Given the description of an element on the screen output the (x, y) to click on. 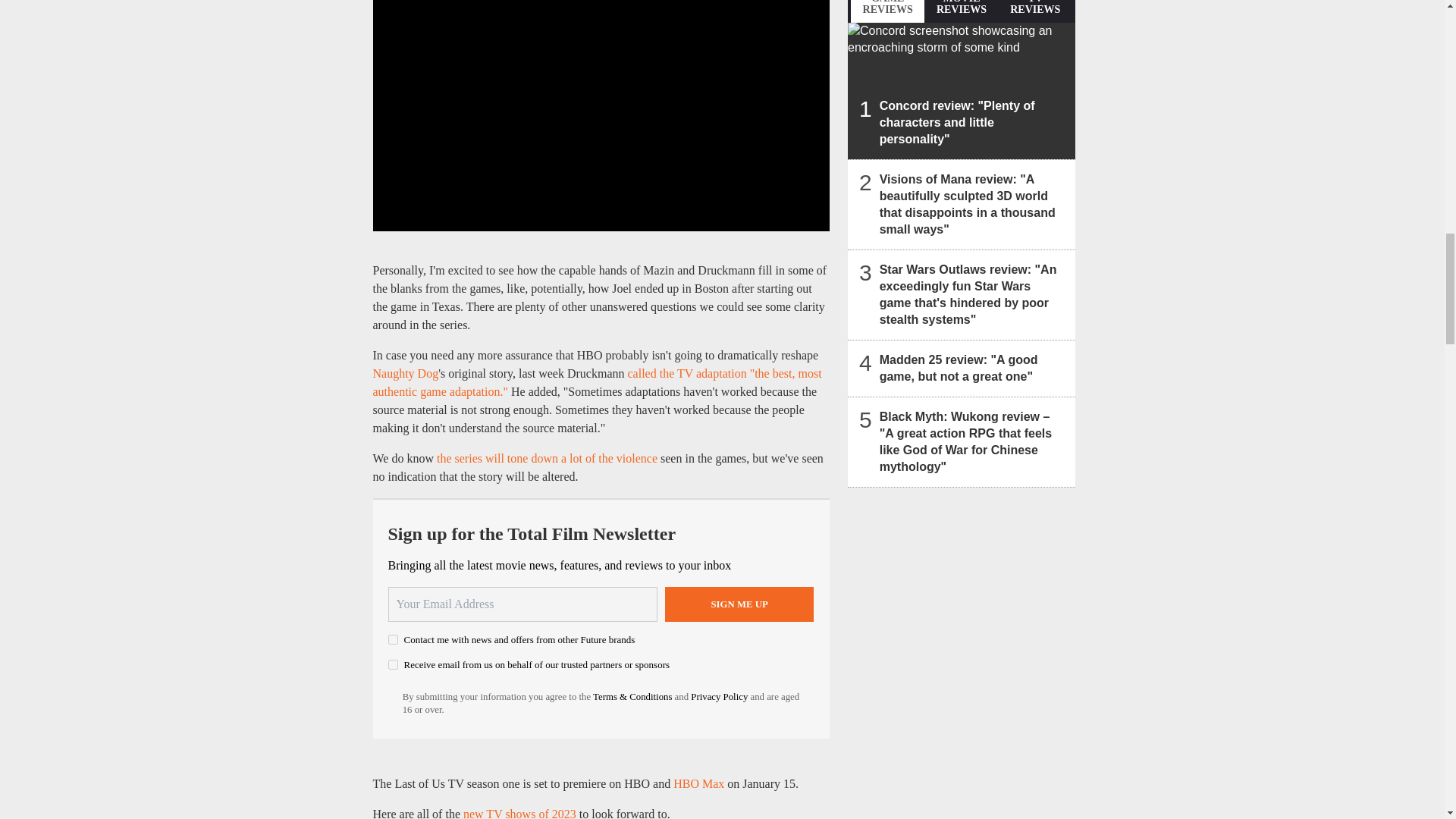
on (392, 664)
on (392, 639)
Sign me up (739, 604)
